Given the description of an element on the screen output the (x, y) to click on. 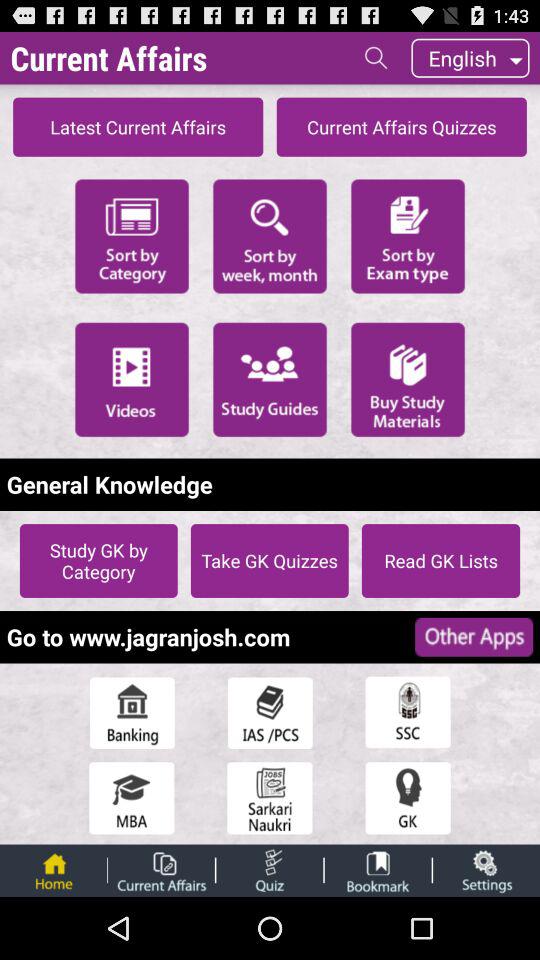
open quiz (407, 798)
